Given the description of an element on the screen output the (x, y) to click on. 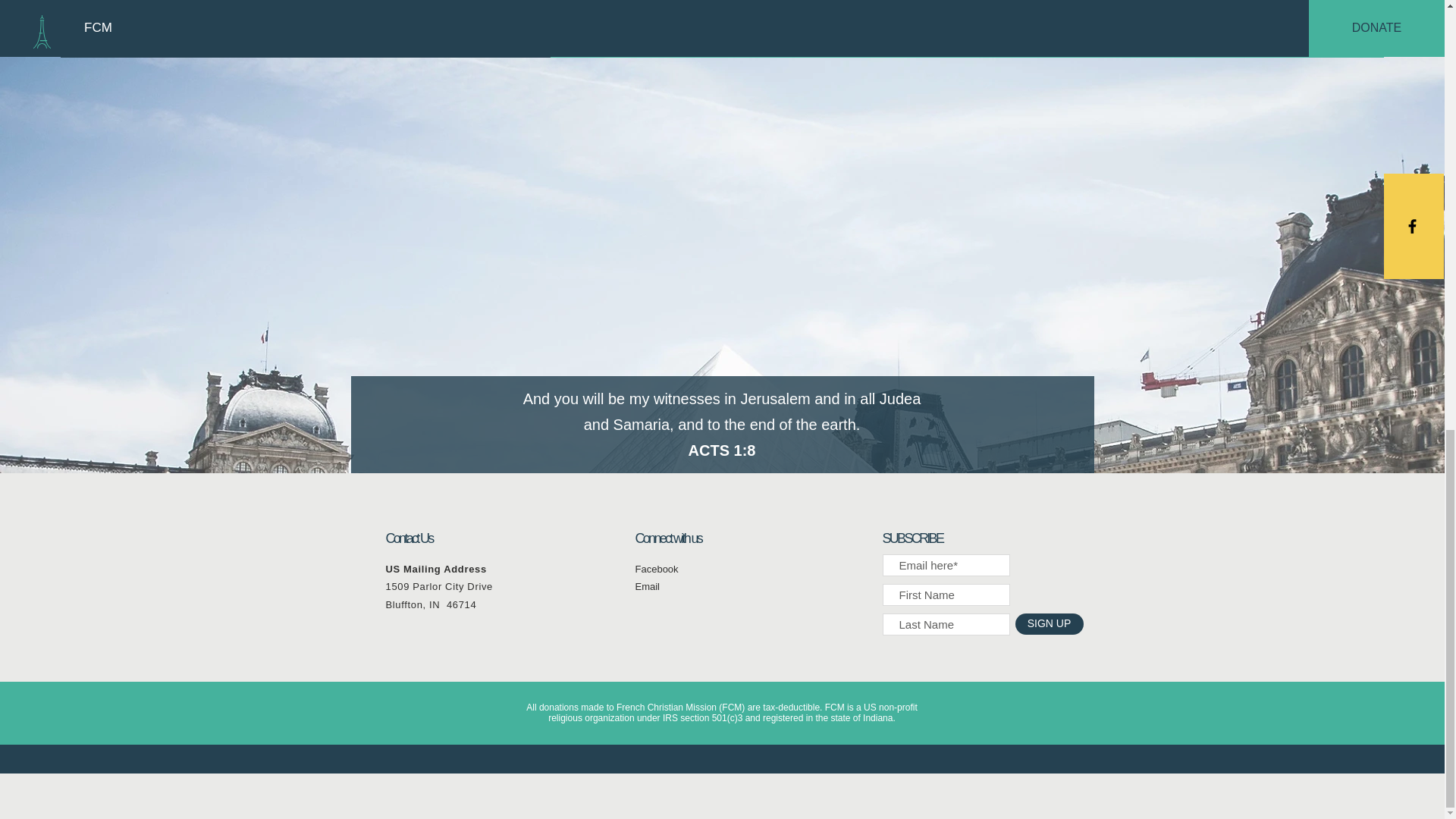
Email (647, 586)
SIGN UP (305, 11)
SIGN UP (1048, 623)
Facebook (656, 568)
